Given the description of an element on the screen output the (x, y) to click on. 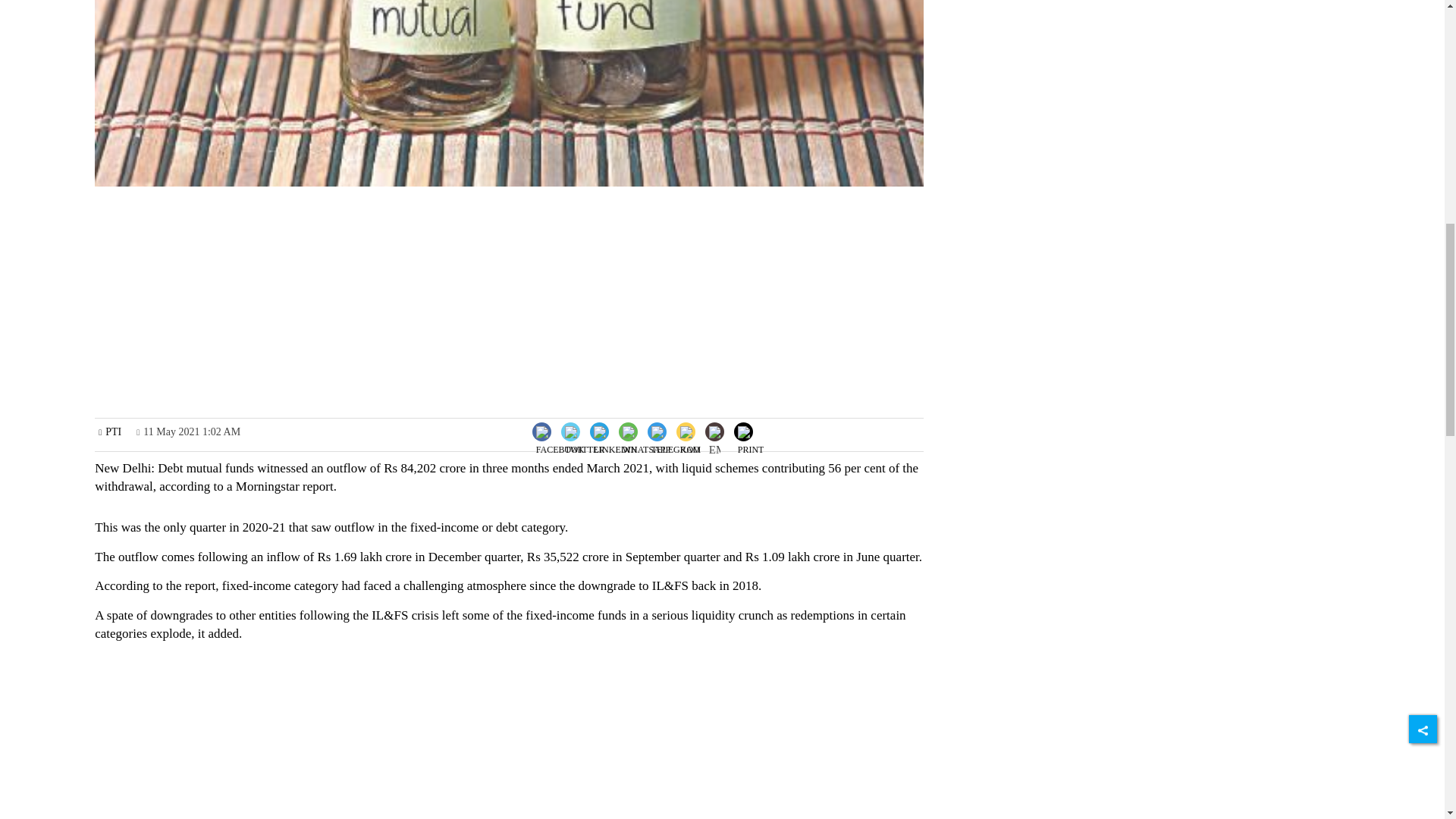
LinkedIn (614, 430)
linkedin (615, 443)
Facebook (560, 430)
whatsapp (646, 443)
facebook (560, 443)
Share by Email (713, 433)
Print (750, 430)
twitter (584, 443)
telegram (675, 443)
Twitter (584, 430)
